Given the description of an element on the screen output the (x, y) to click on. 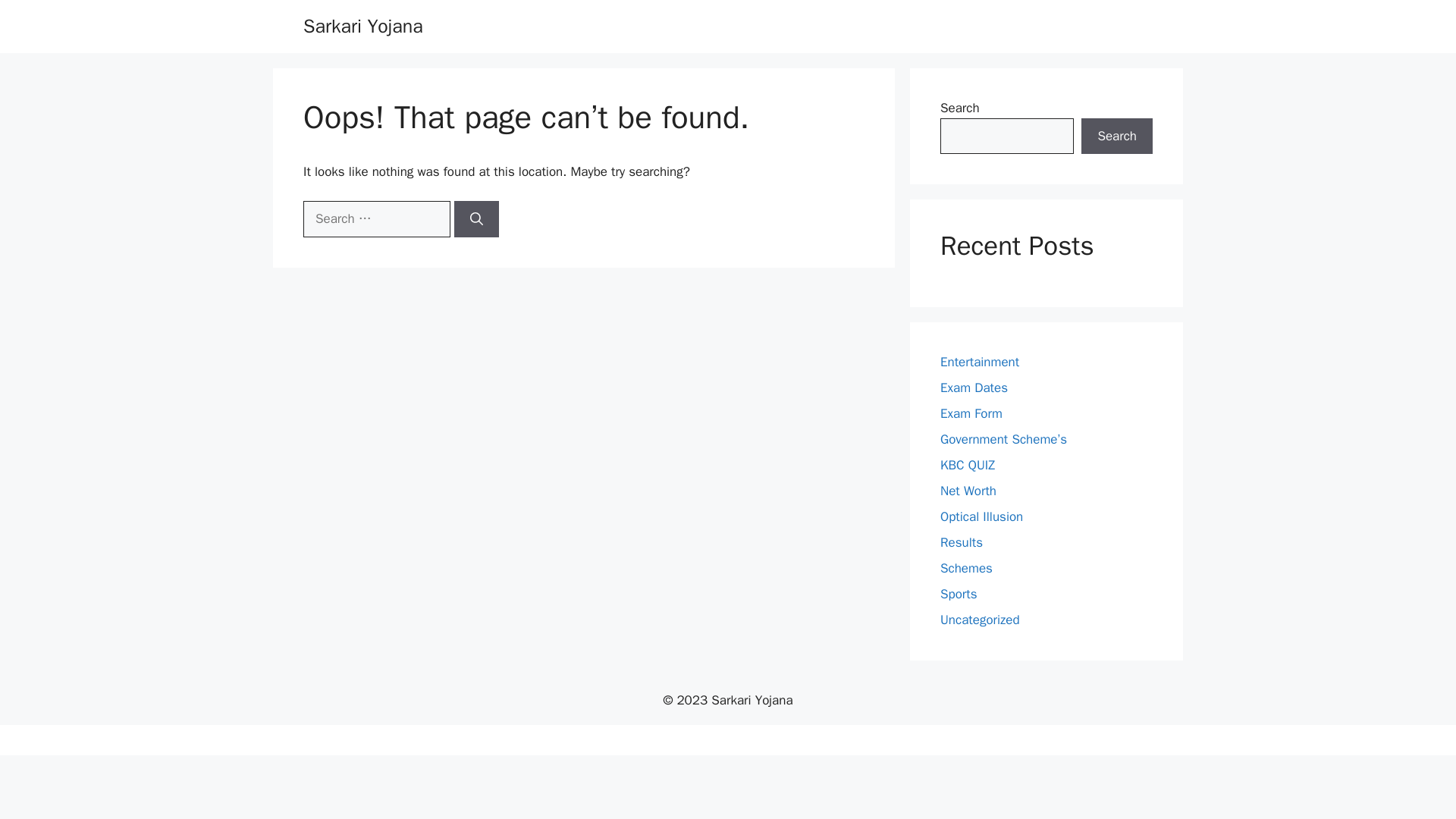
Schemes (966, 568)
Exam Dates (973, 387)
Search for: (375, 218)
KBC QUIZ (967, 465)
Search (1117, 135)
Uncategorized (980, 619)
Net Worth (967, 490)
Exam Form (971, 413)
Optical Illusion (981, 516)
Results (961, 542)
Sports (958, 593)
Entertainment (979, 361)
Sarkari Yojana (362, 25)
